Given the description of an element on the screen output the (x, y) to click on. 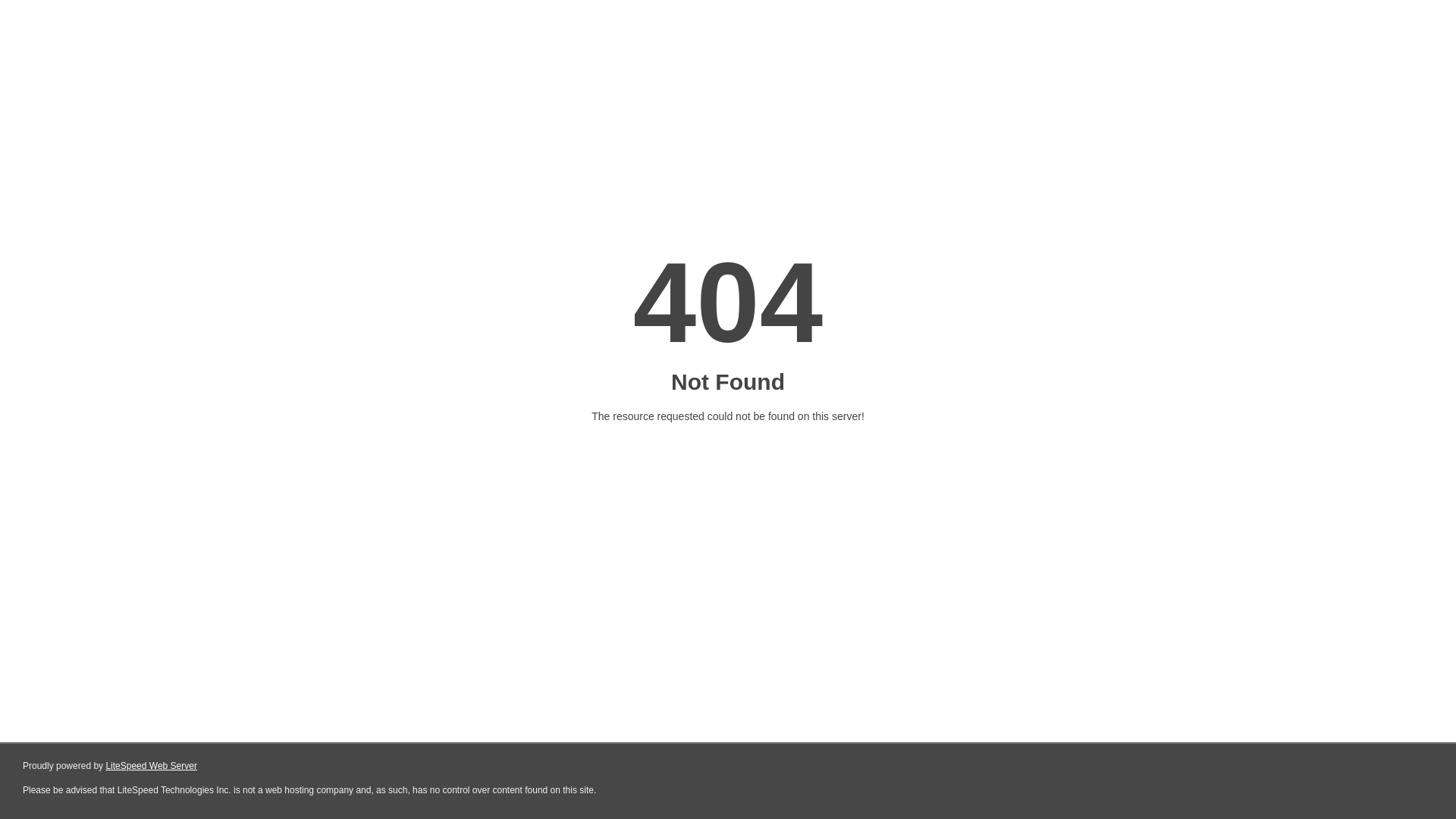
LiteSpeed Web Server Element type: text (151, 765)
